Given the description of an element on the screen output the (x, y) to click on. 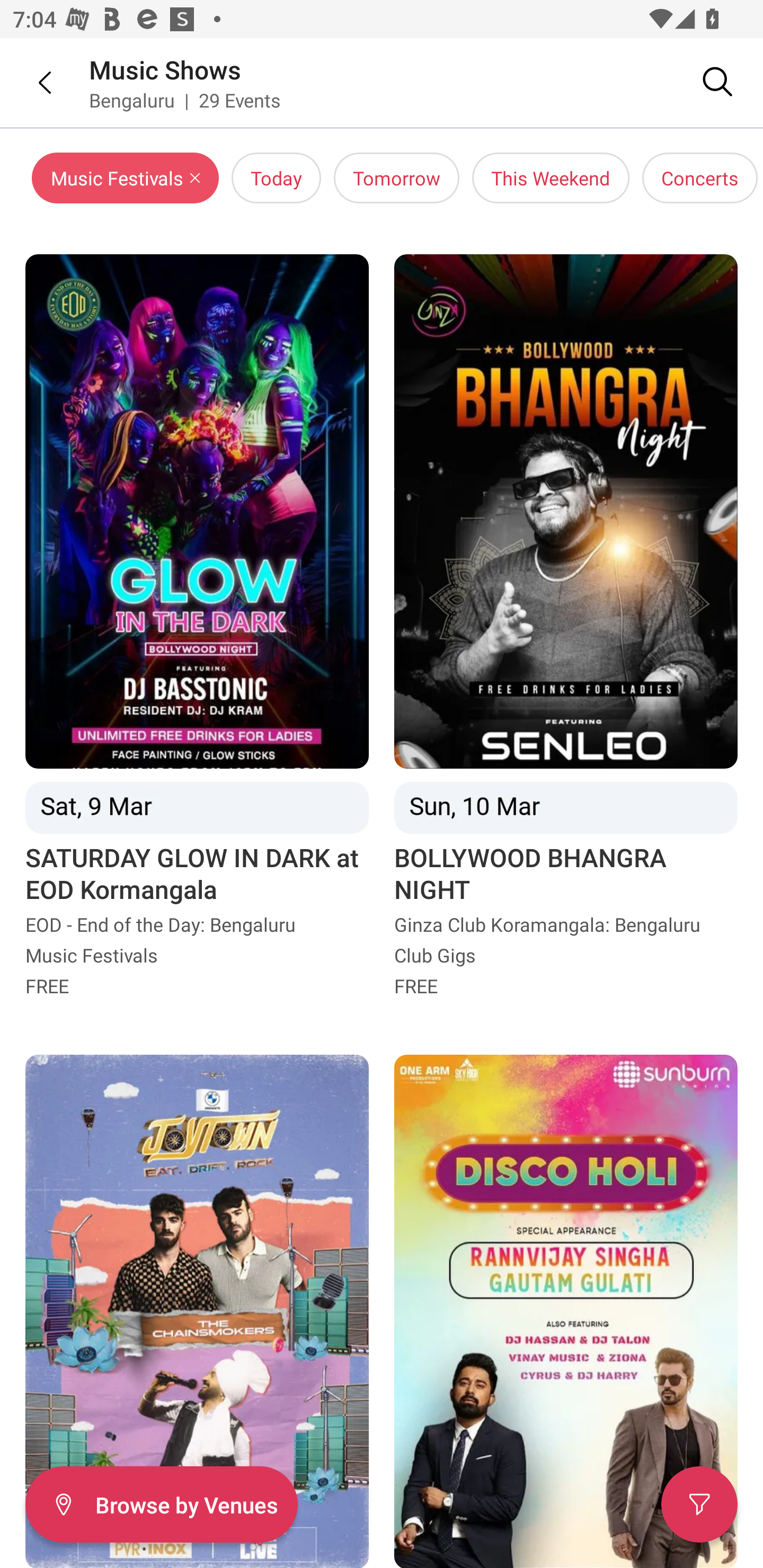
Back (31, 82)
Music Shows (165, 68)
Bengaluru  |  29 Events (185, 99)
Music Festivals Close (125, 177)
Today (276, 177)
Tomorrow (396, 177)
This Weekend (550, 177)
Concerts (699, 177)
Filter Browse by Venues (161, 1504)
Filter (699, 1504)
